Given the description of an element on the screen output the (x, y) to click on. 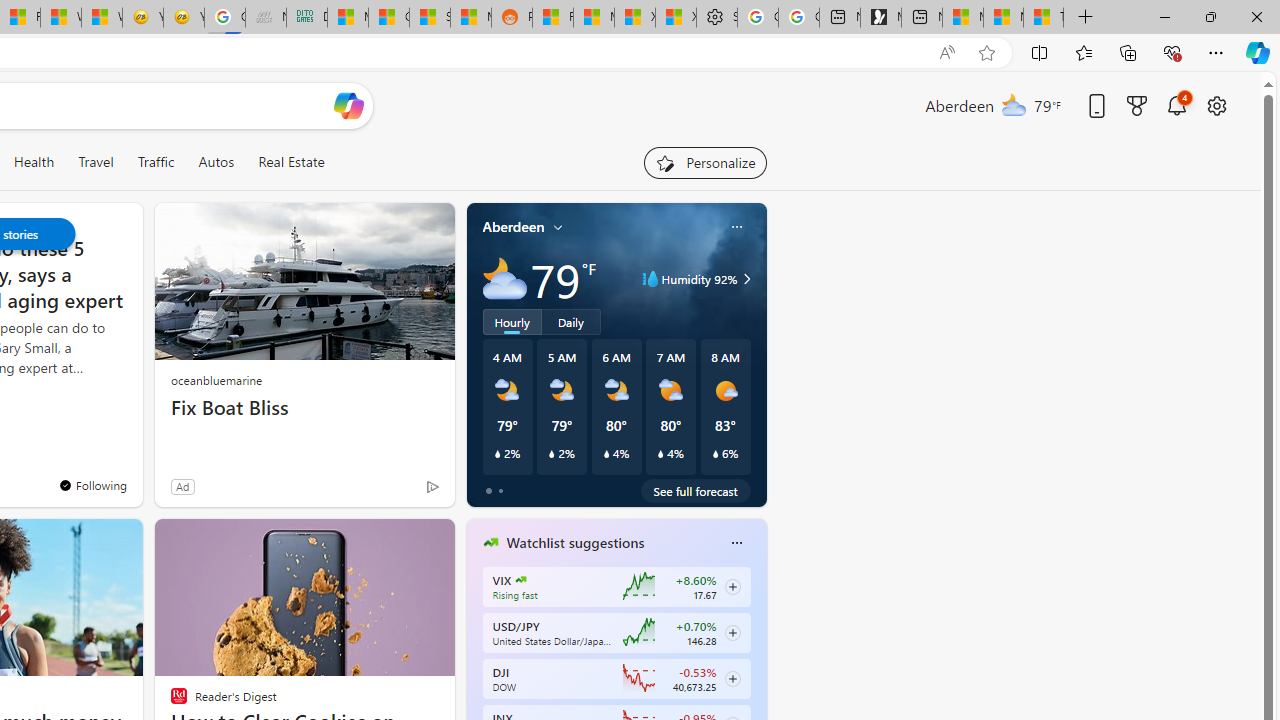
Health (33, 162)
My location (558, 227)
CBOE Market Volatility Index (520, 579)
Autos (215, 161)
